Given the description of an element on the screen output the (x, y) to click on. 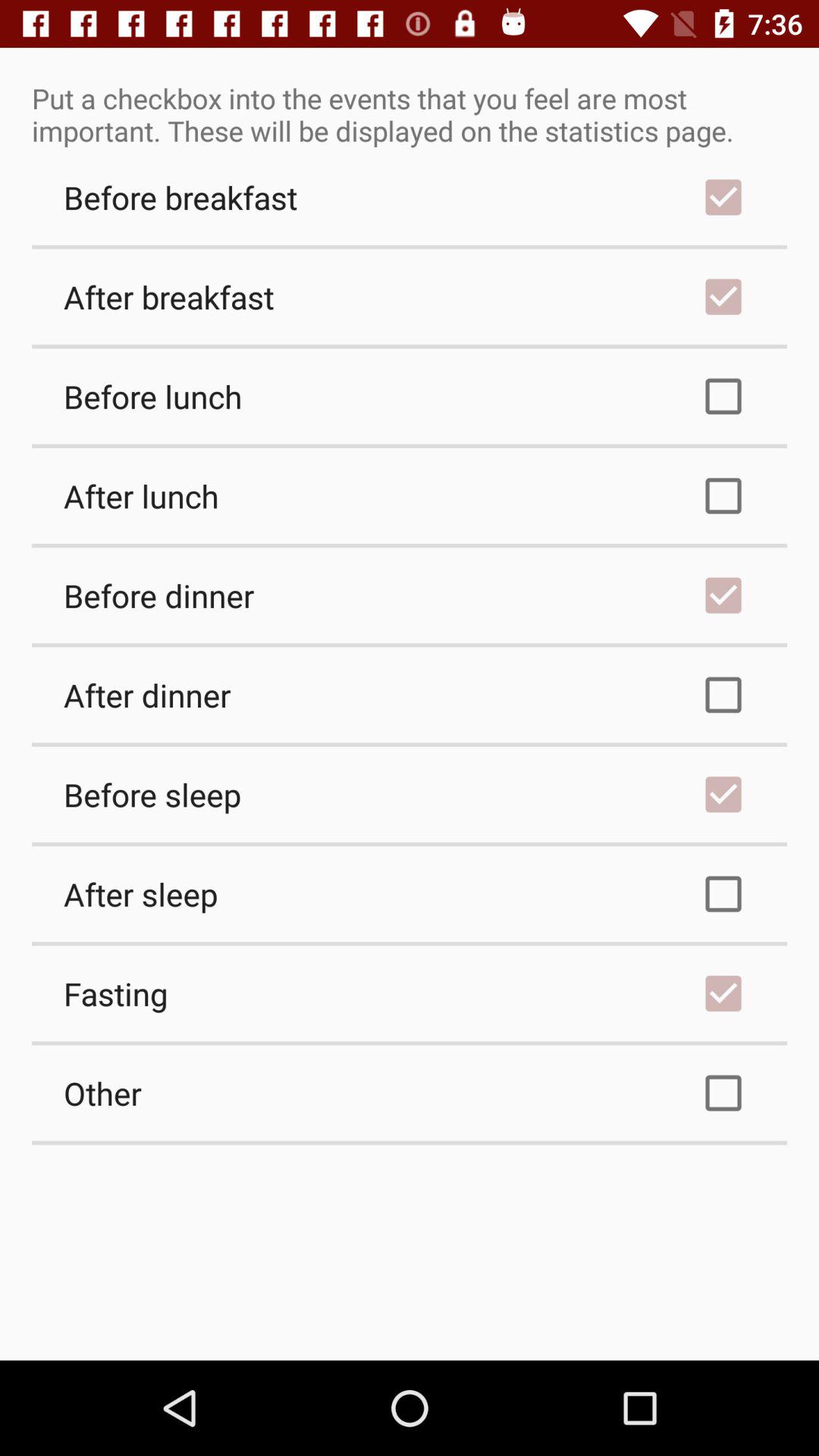
select the icon below before sleep checkbox (409, 893)
